Given the description of an element on the screen output the (x, y) to click on. 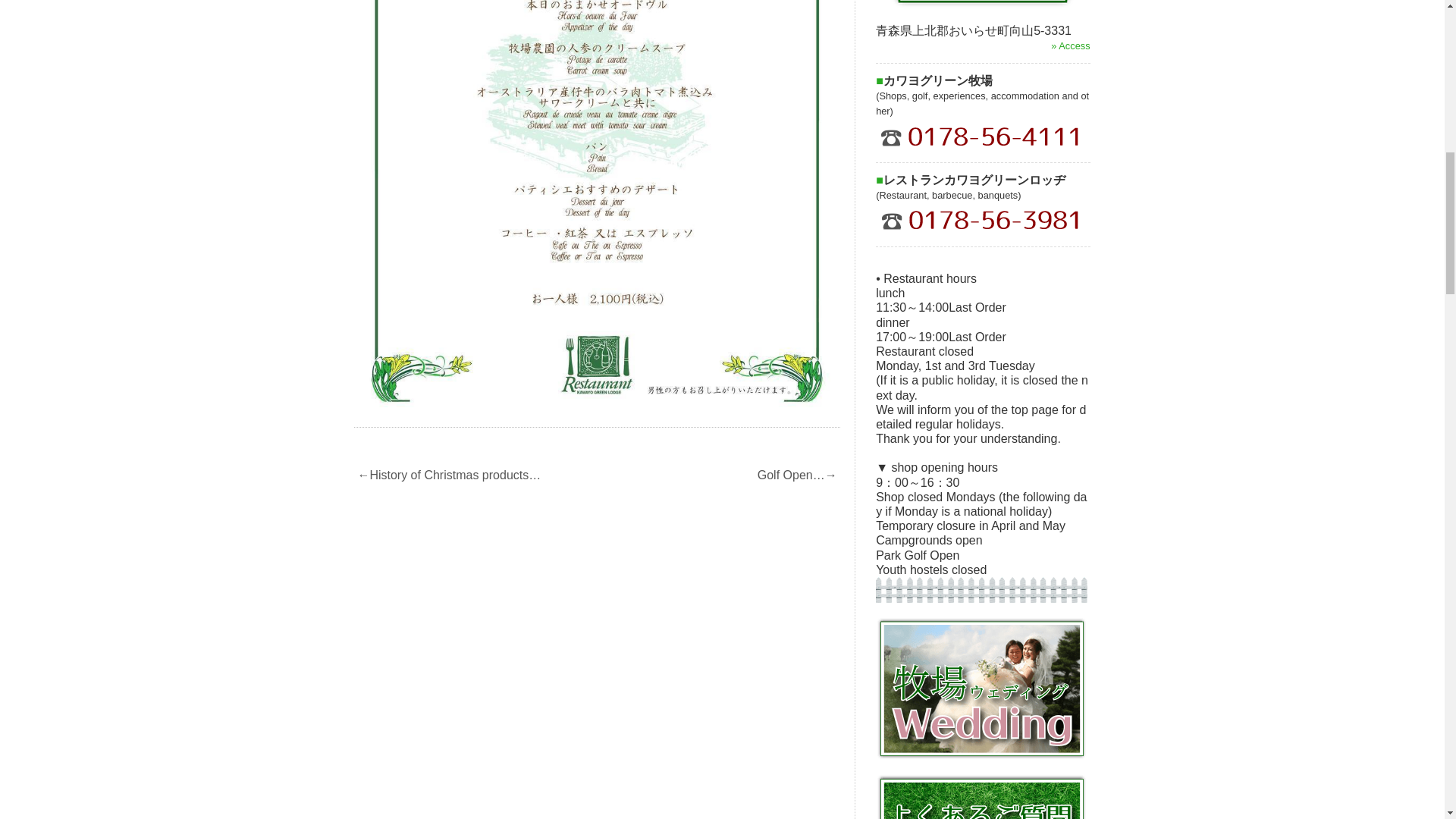
Park Golf course has opened! (798, 475)
